Given the description of an element on the screen output the (x, y) to click on. 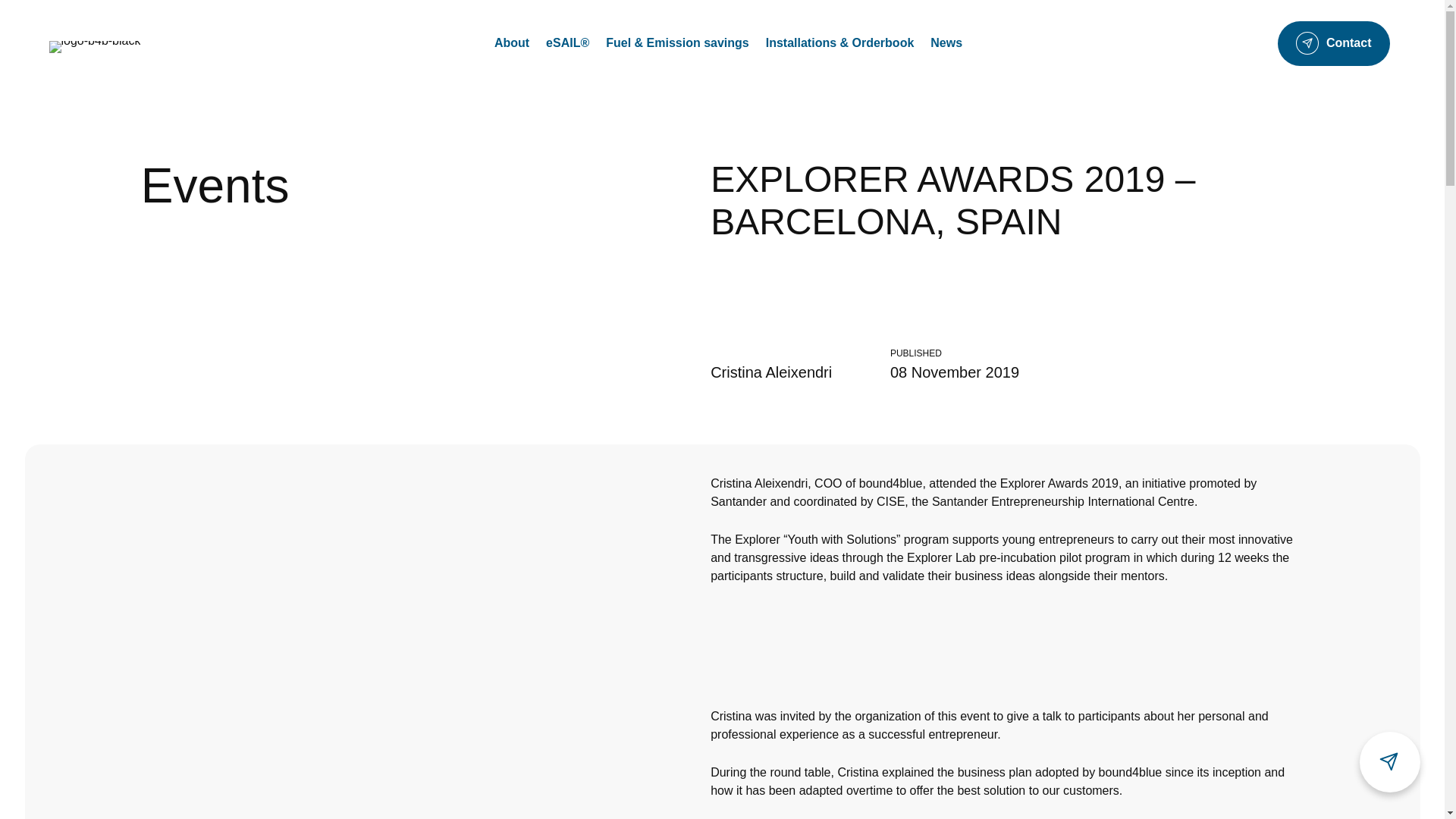
About (512, 42)
Contact (1334, 43)
News (946, 42)
